Given the description of an element on the screen output the (x, y) to click on. 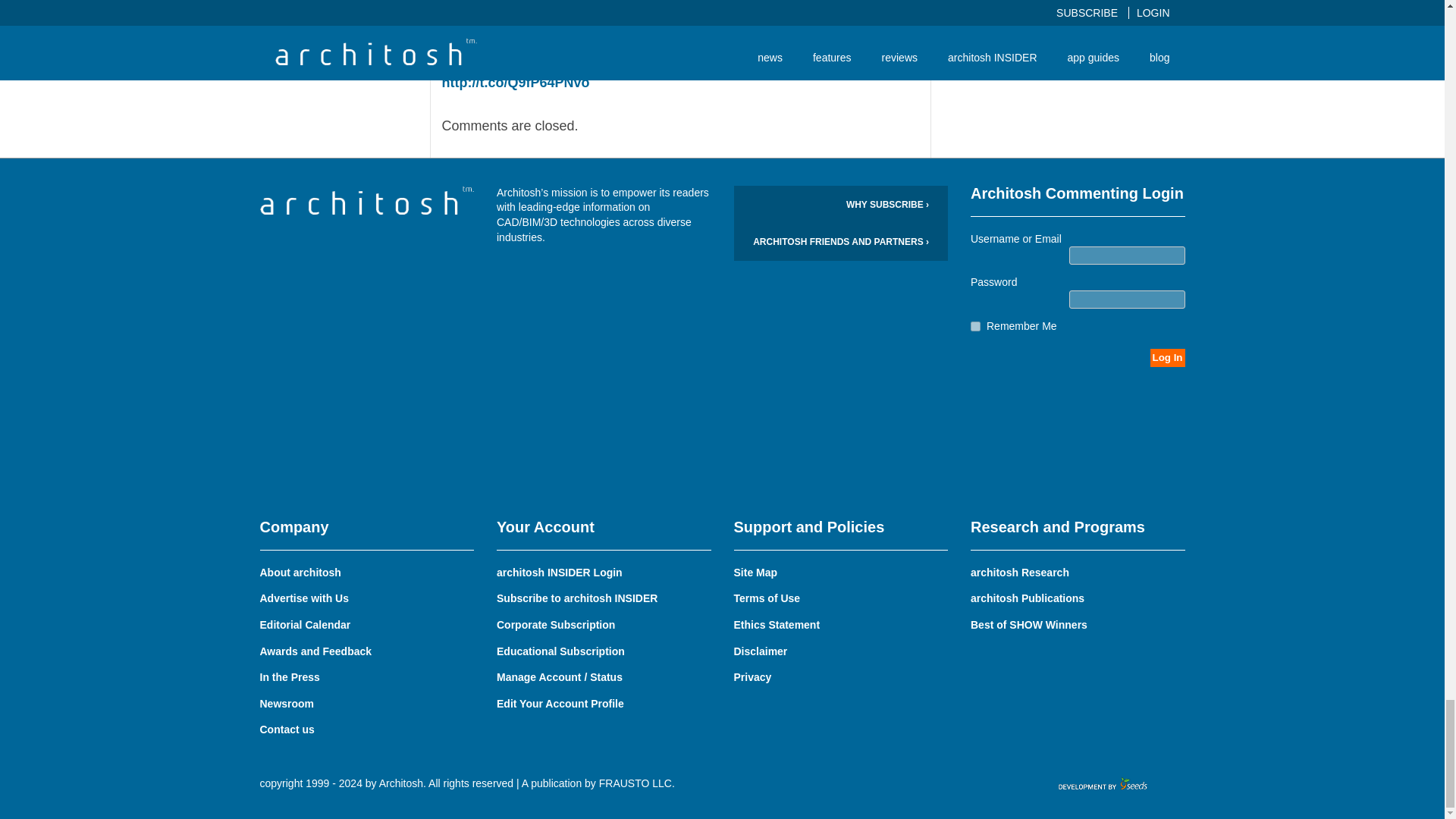
Log In (1167, 357)
forever (975, 326)
